Given the description of an element on the screen output the (x, y) to click on. 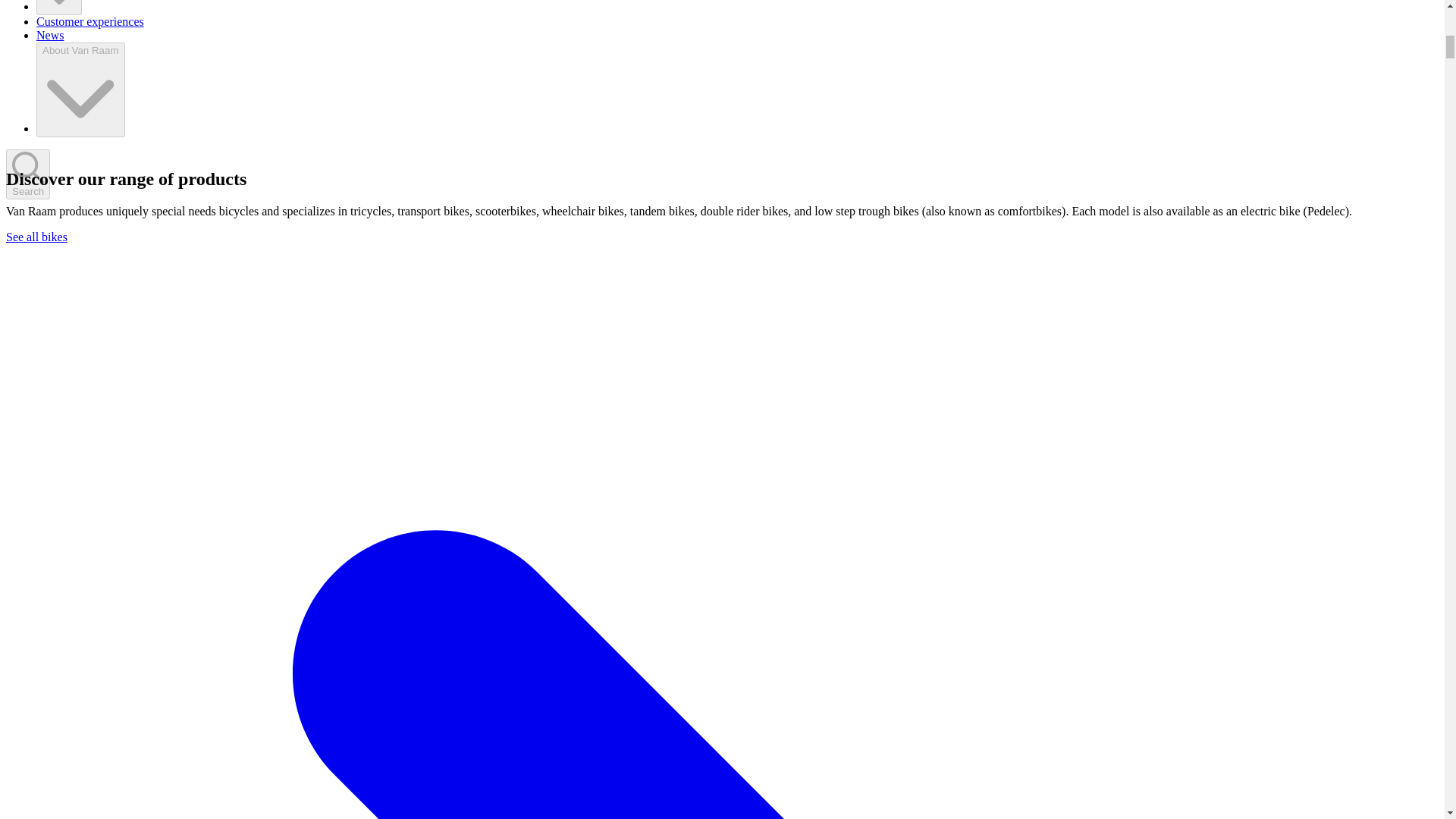
About Van Raam (80, 89)
News (50, 34)
Service (58, 7)
Customer experiences (90, 21)
